Given the description of an element on the screen output the (x, y) to click on. 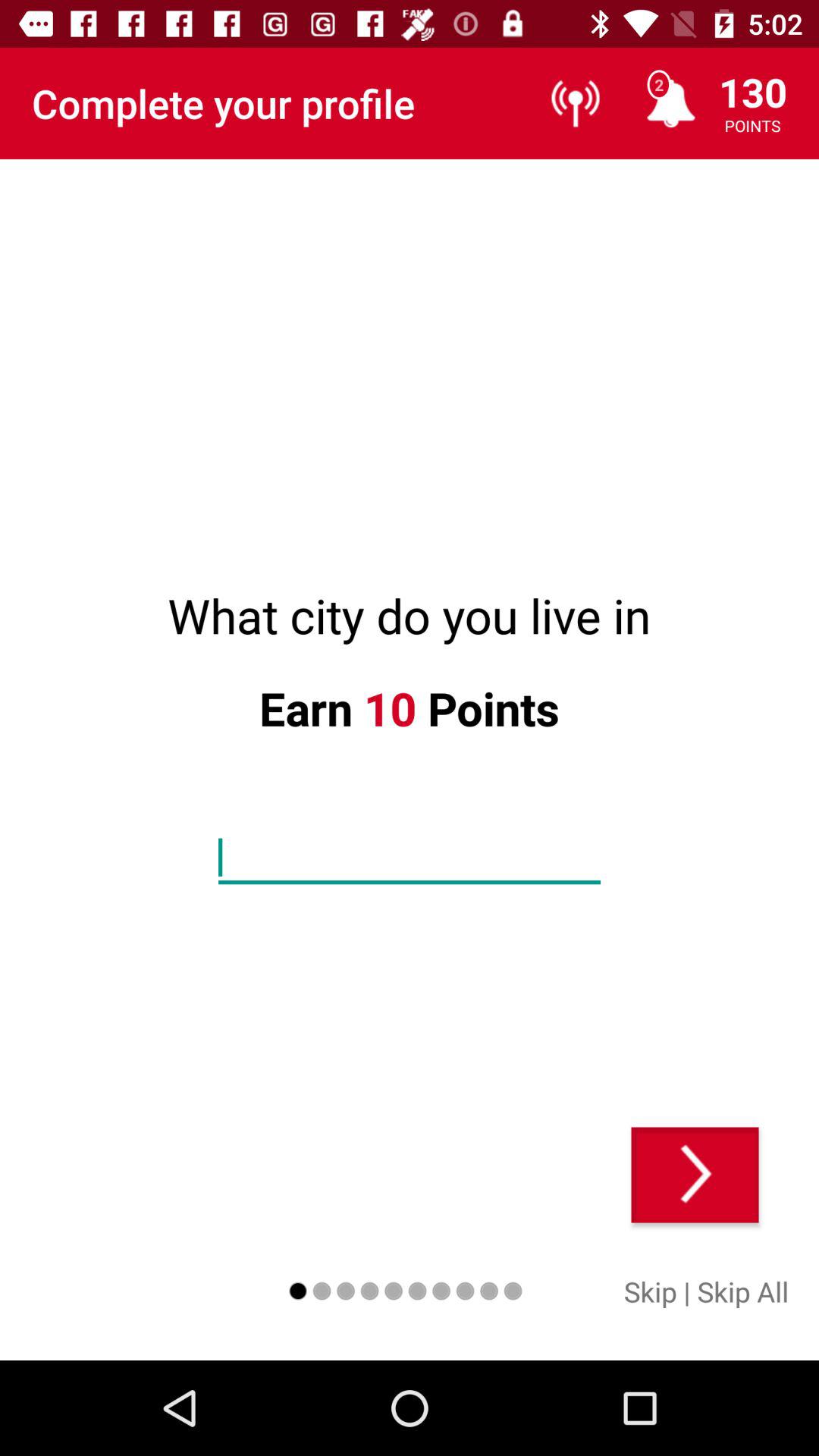
go to next question (694, 1174)
